Given the description of an element on the screen output the (x, y) to click on. 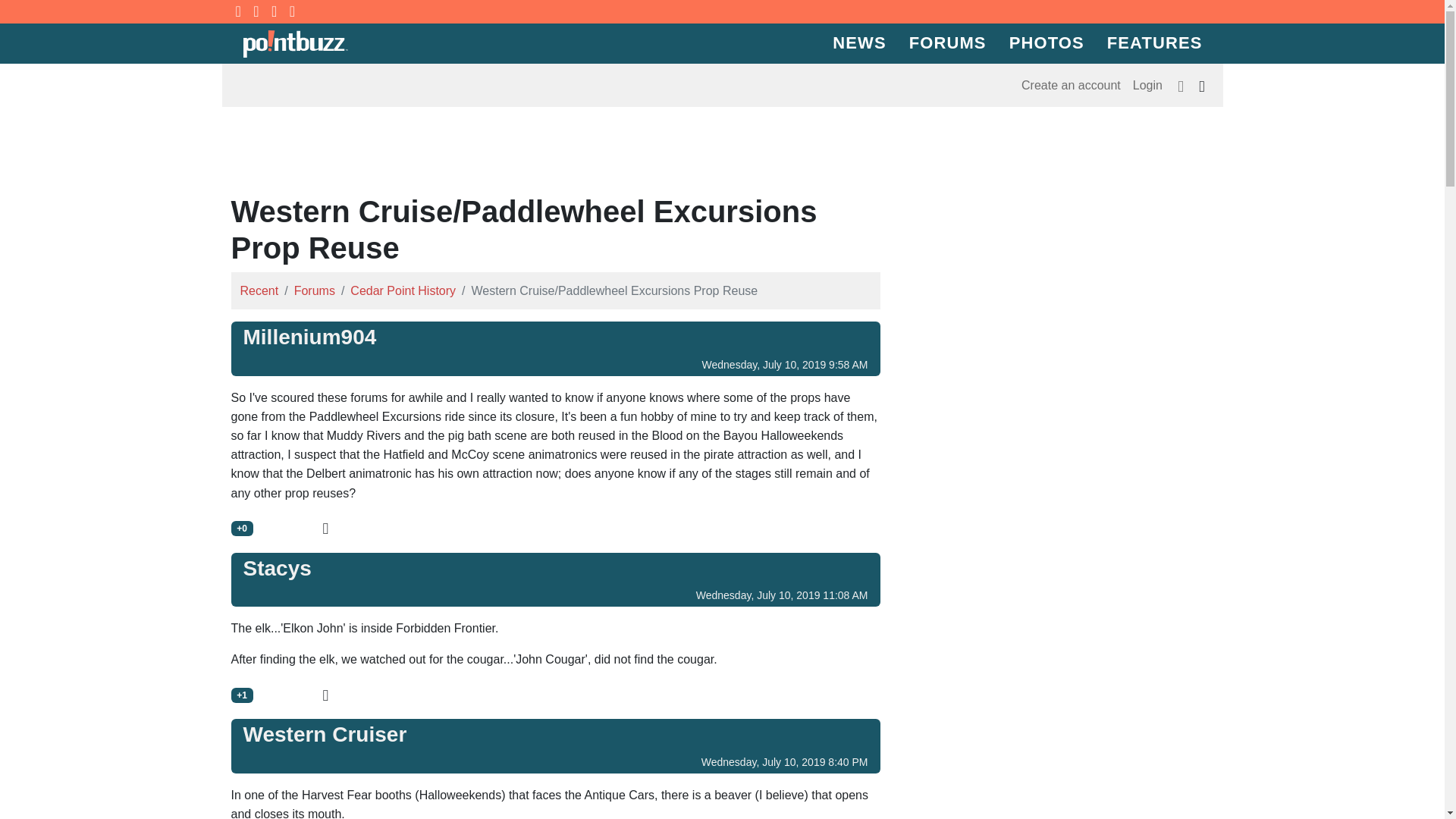
Recent (259, 290)
Login (1147, 84)
FORUMS (947, 43)
PHOTOS (1046, 43)
Create an account (1070, 84)
NEWS (858, 43)
Advertisement (722, 152)
Forums (314, 290)
FEATURES (1155, 43)
Cedar Point History (402, 290)
